Given the description of an element on the screen output the (x, y) to click on. 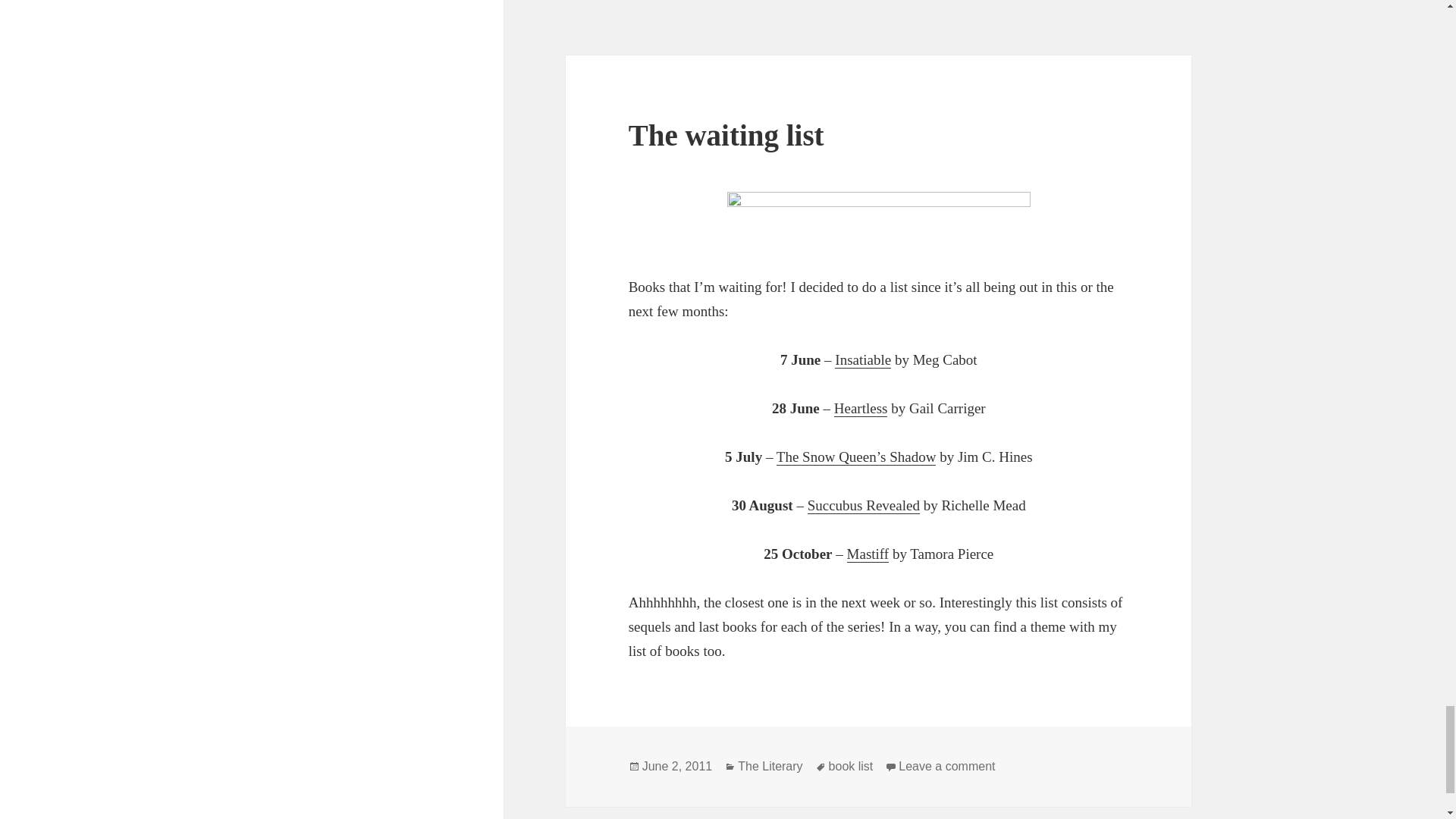
theliterary (878, 220)
